Given the description of an element on the screen output the (x, y) to click on. 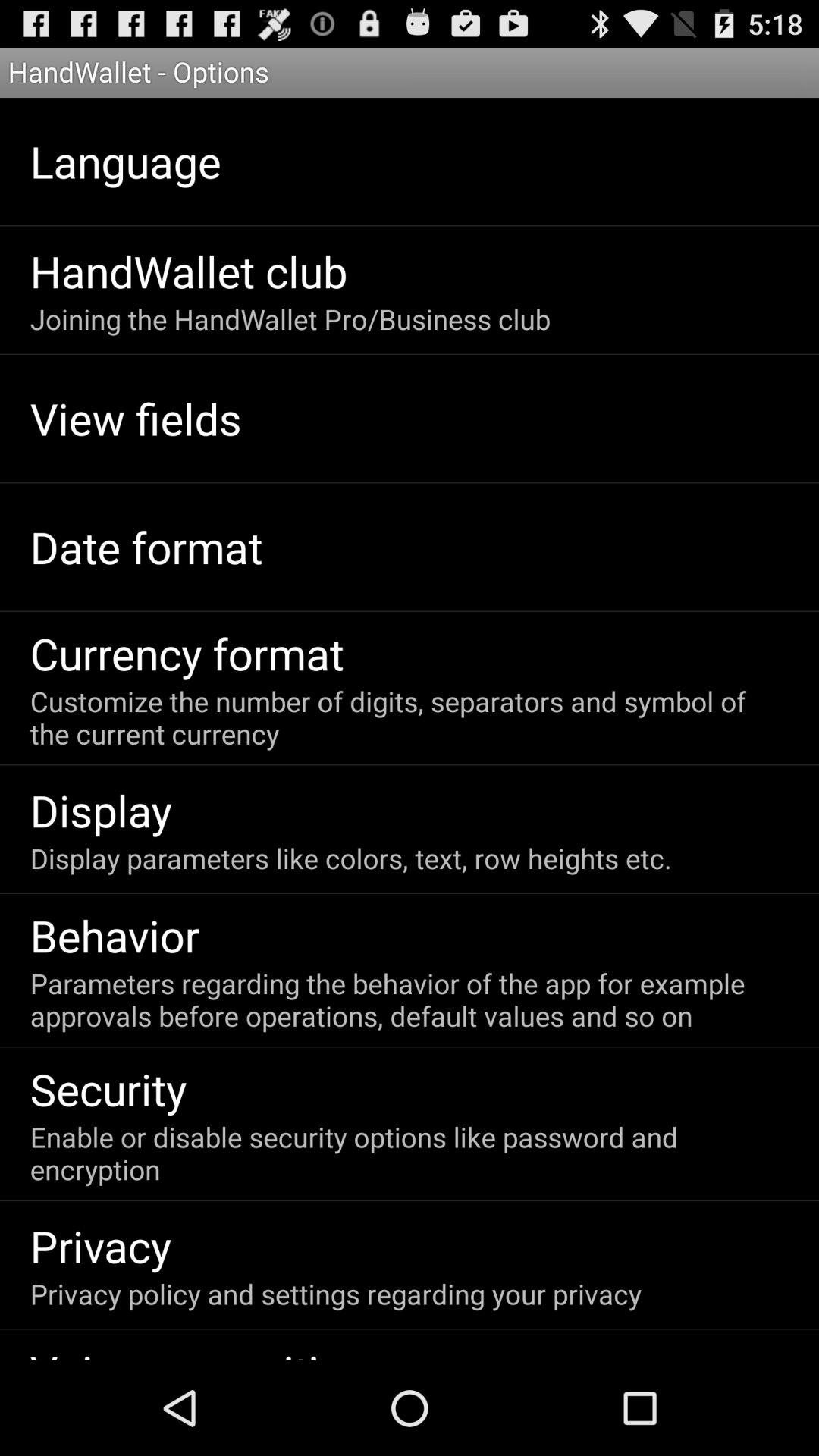
swipe to privacy policy and (335, 1293)
